Given the description of an element on the screen output the (x, y) to click on. 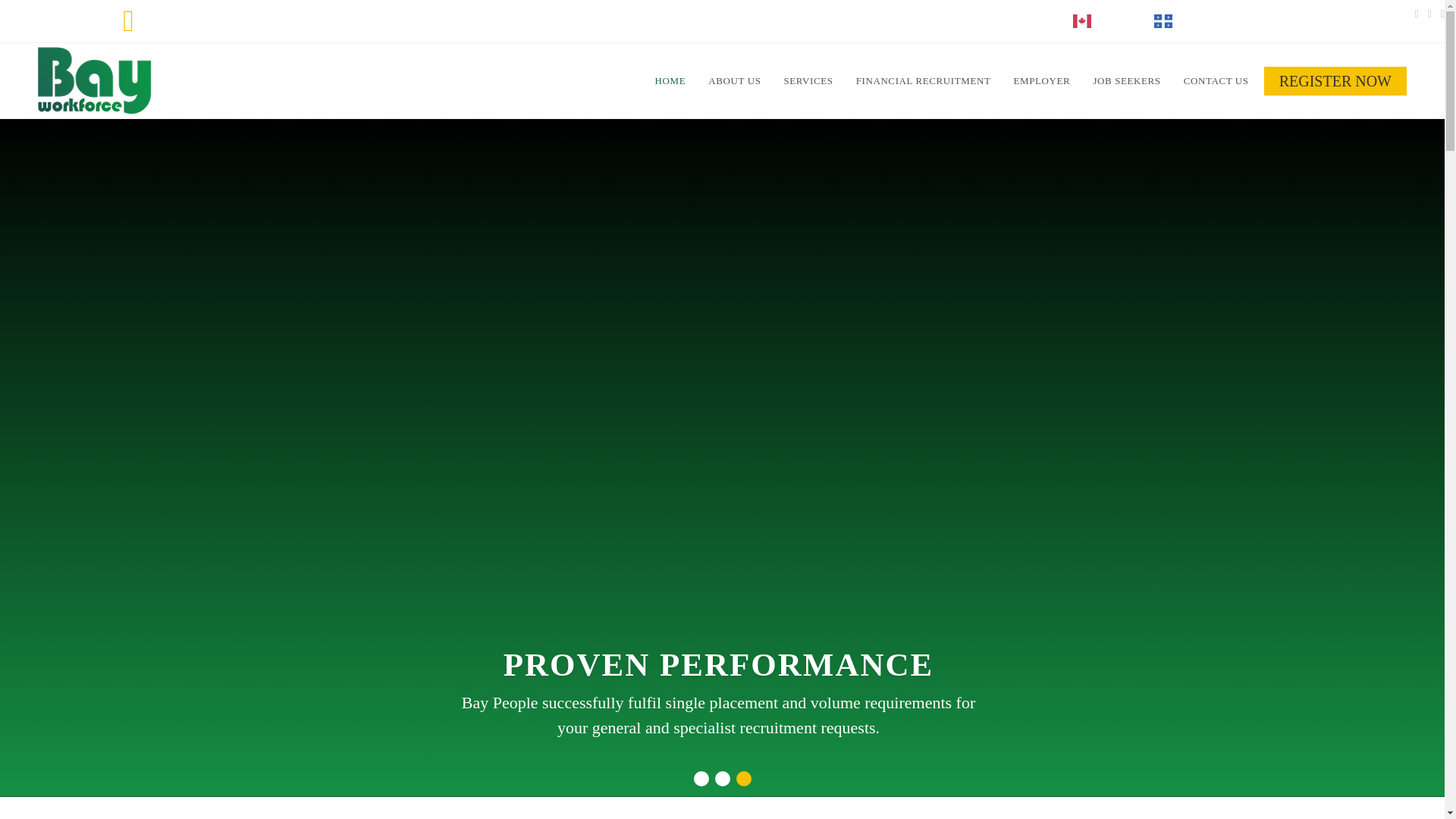
ABOUT US (734, 80)
FINANCIAL RECRUITMENT (923, 80)
Job Seekers (1334, 80)
EMPLOYER (1042, 80)
About (734, 80)
BAY Workforce (94, 80)
CONTACT US (1216, 80)
REGISTER NOW (1334, 80)
JOB SEEKERS (1126, 80)
SERVICES (807, 80)
ENGLISH (1111, 19)
Services (807, 80)
FRENCH (1190, 19)
